Given the description of an element on the screen output the (x, y) to click on. 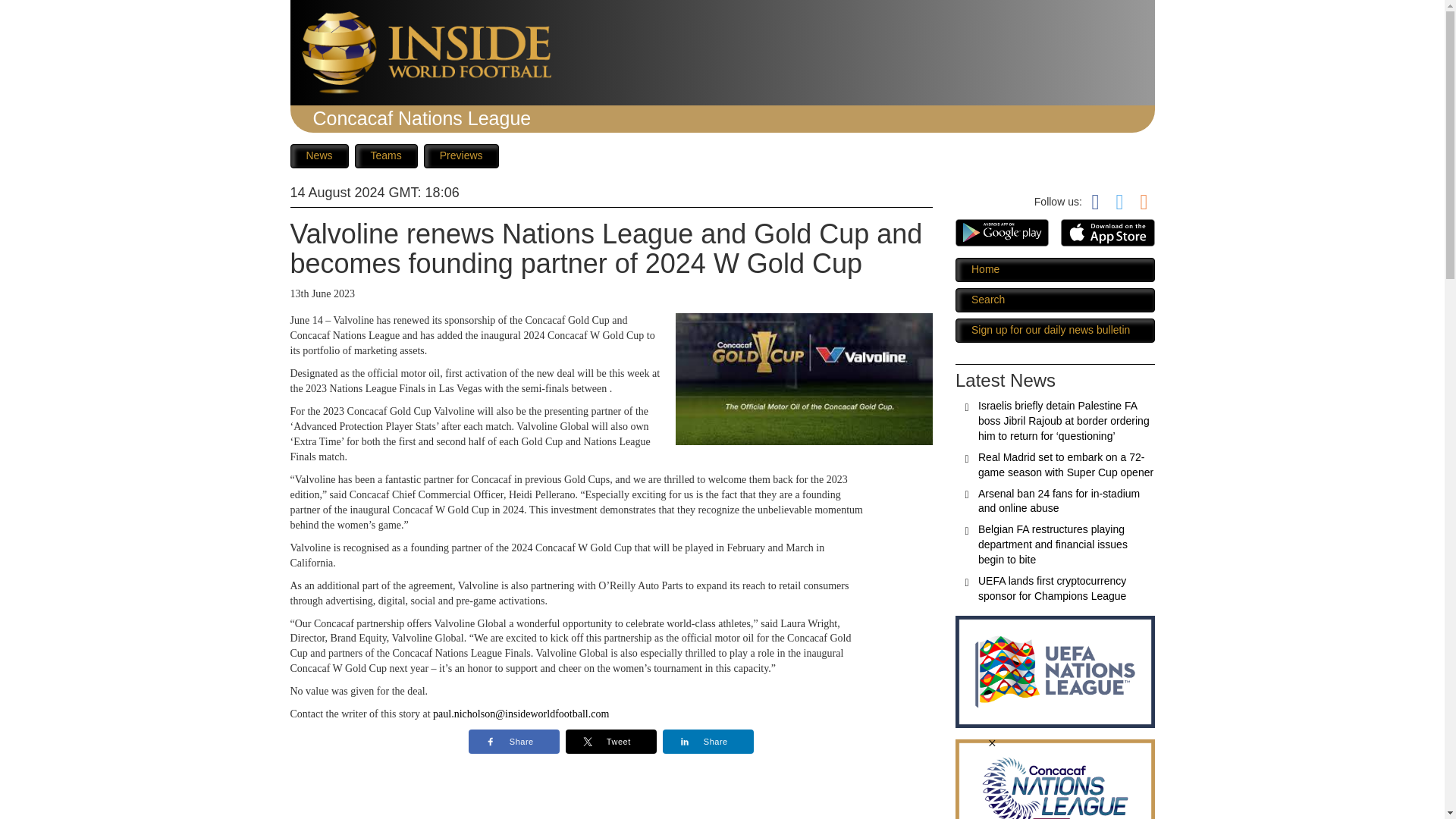
UEFA lands first cryptocurrency sponsor for Champions League (1051, 587)
Search (1054, 300)
Previews (461, 156)
News (318, 156)
Concacaf Nations League (422, 117)
Arsenal ban 24 fans for in-stadium and online abuse (1059, 500)
Sign up for our daily news bulletin (1054, 330)
Home (1054, 269)
